Given the description of an element on the screen output the (x, y) to click on. 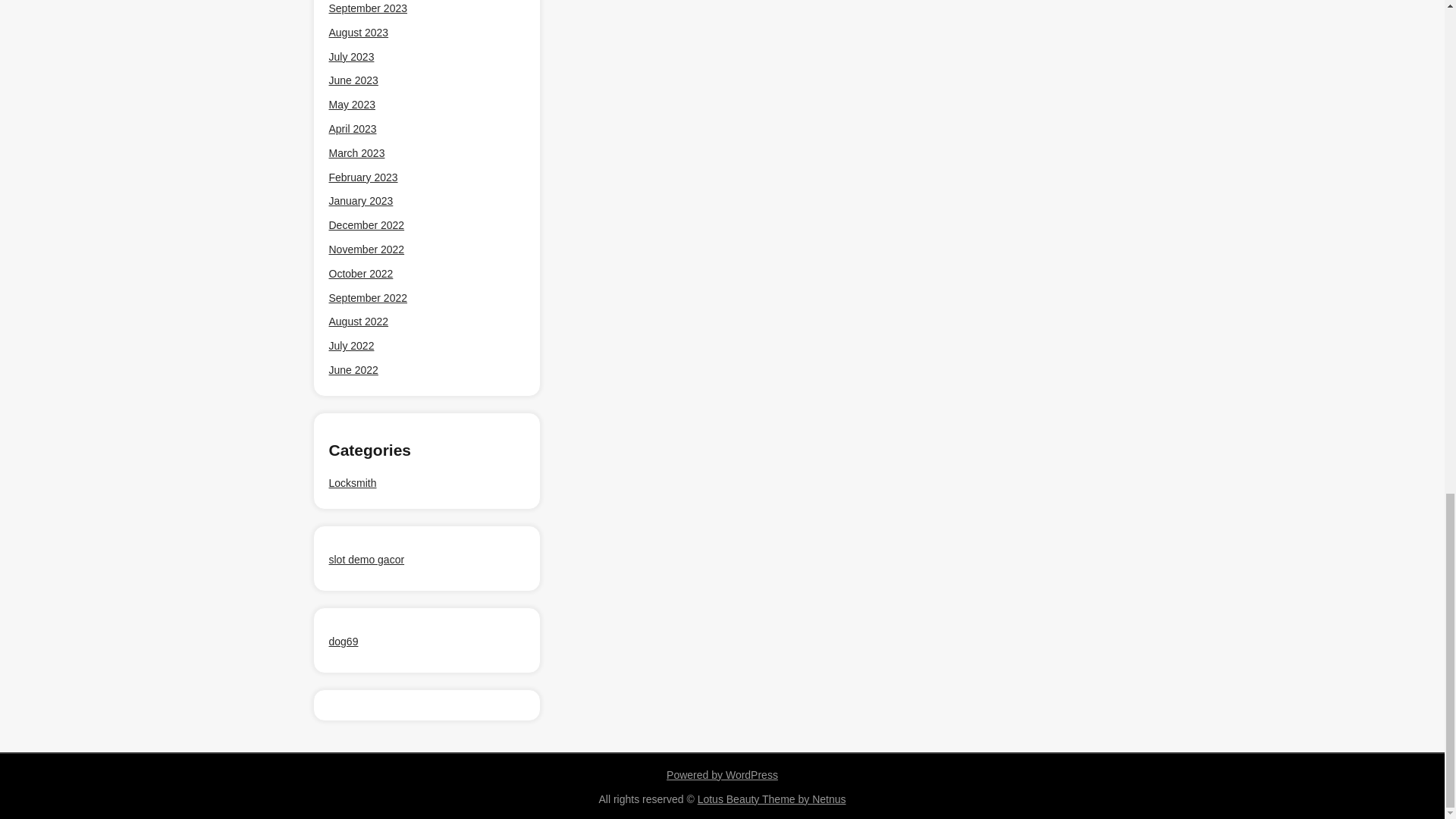
September 2023 (368, 8)
February 2023 (363, 177)
August 2023 (358, 32)
Netnus - Lotus Beauty (771, 799)
May 2023 (352, 104)
June 2023 (353, 80)
March 2023 (357, 153)
April 2023 (353, 128)
July 2023 (351, 56)
